Given the description of an element on the screen output the (x, y) to click on. 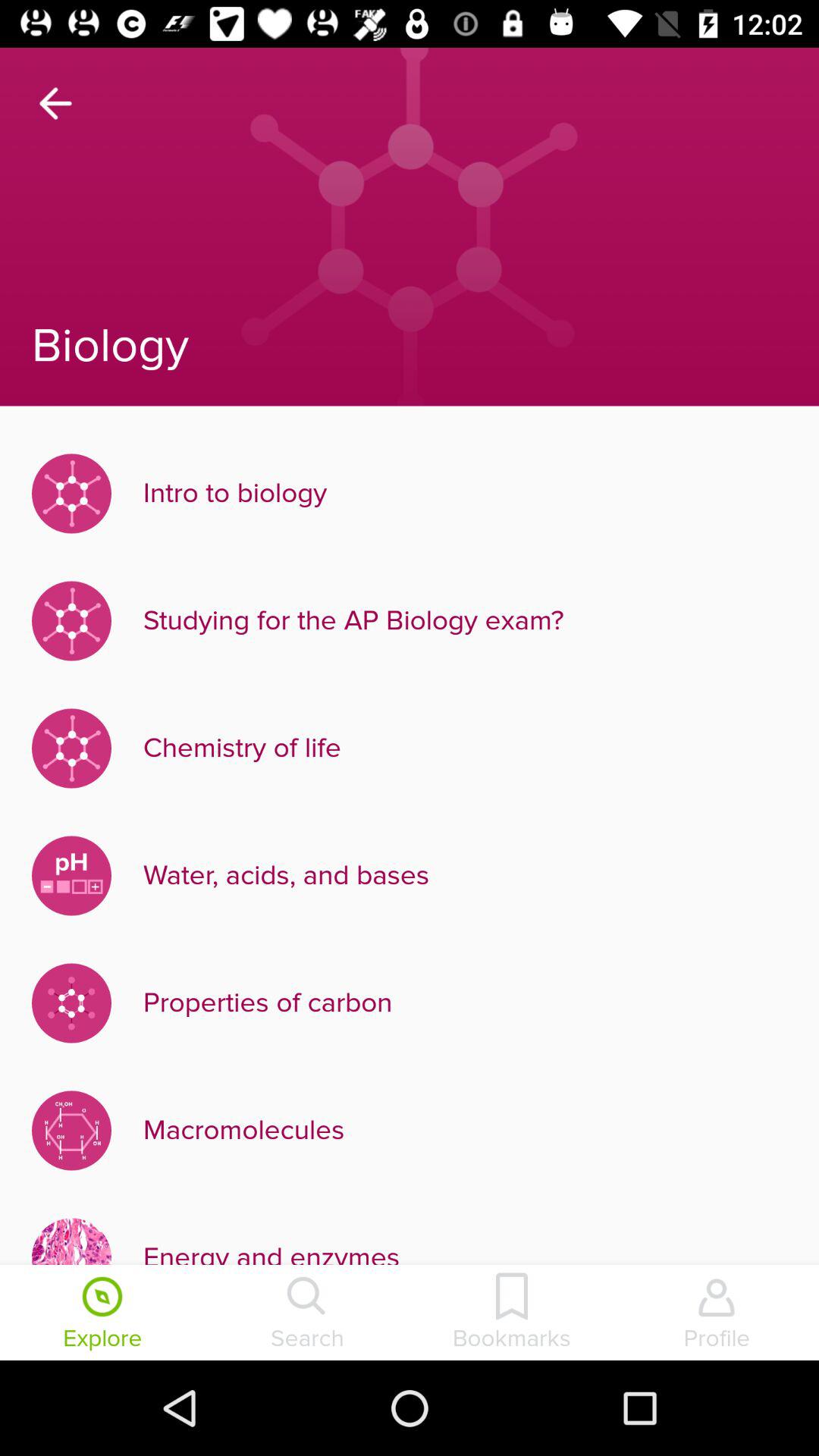
select item to the left of the profile icon (511, 1314)
